Given the description of an element on the screen output the (x, y) to click on. 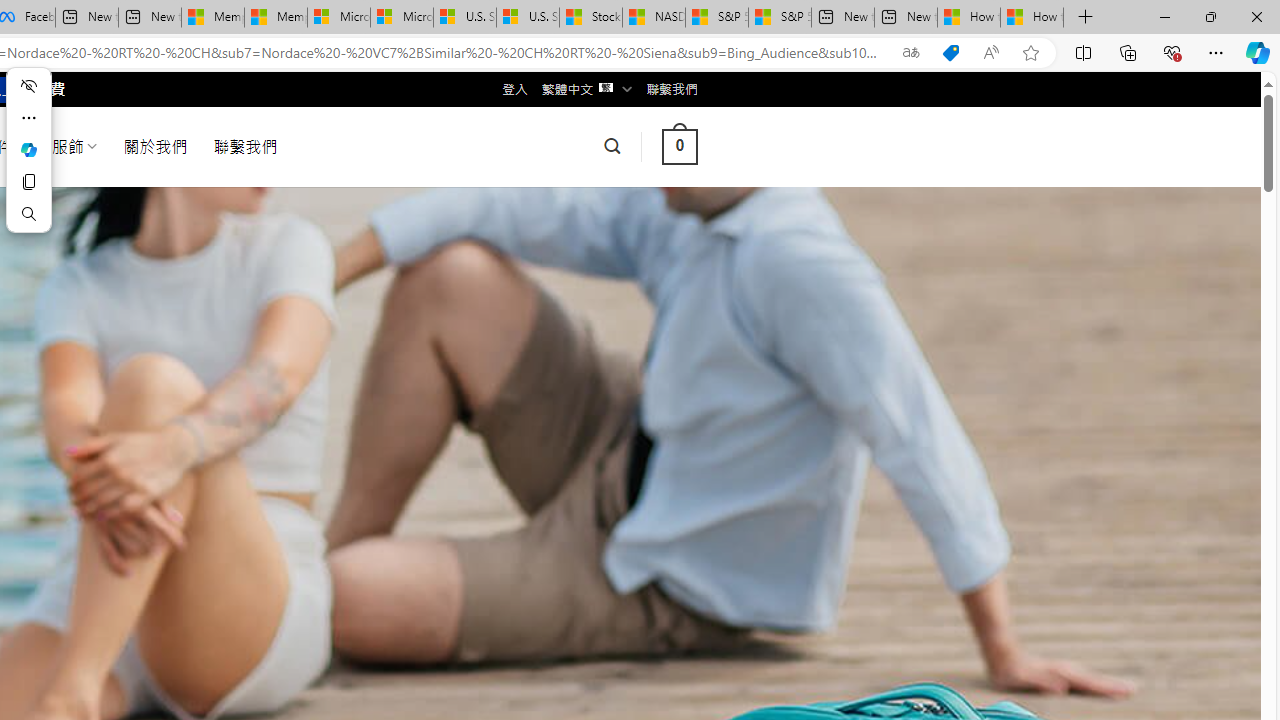
Ask Copilot (28, 149)
More actions (28, 117)
  0   (679, 146)
S&P 500, Nasdaq end lower, weighed by Nvidia dip | Watch (779, 17)
